Given the description of an element on the screen output the (x, y) to click on. 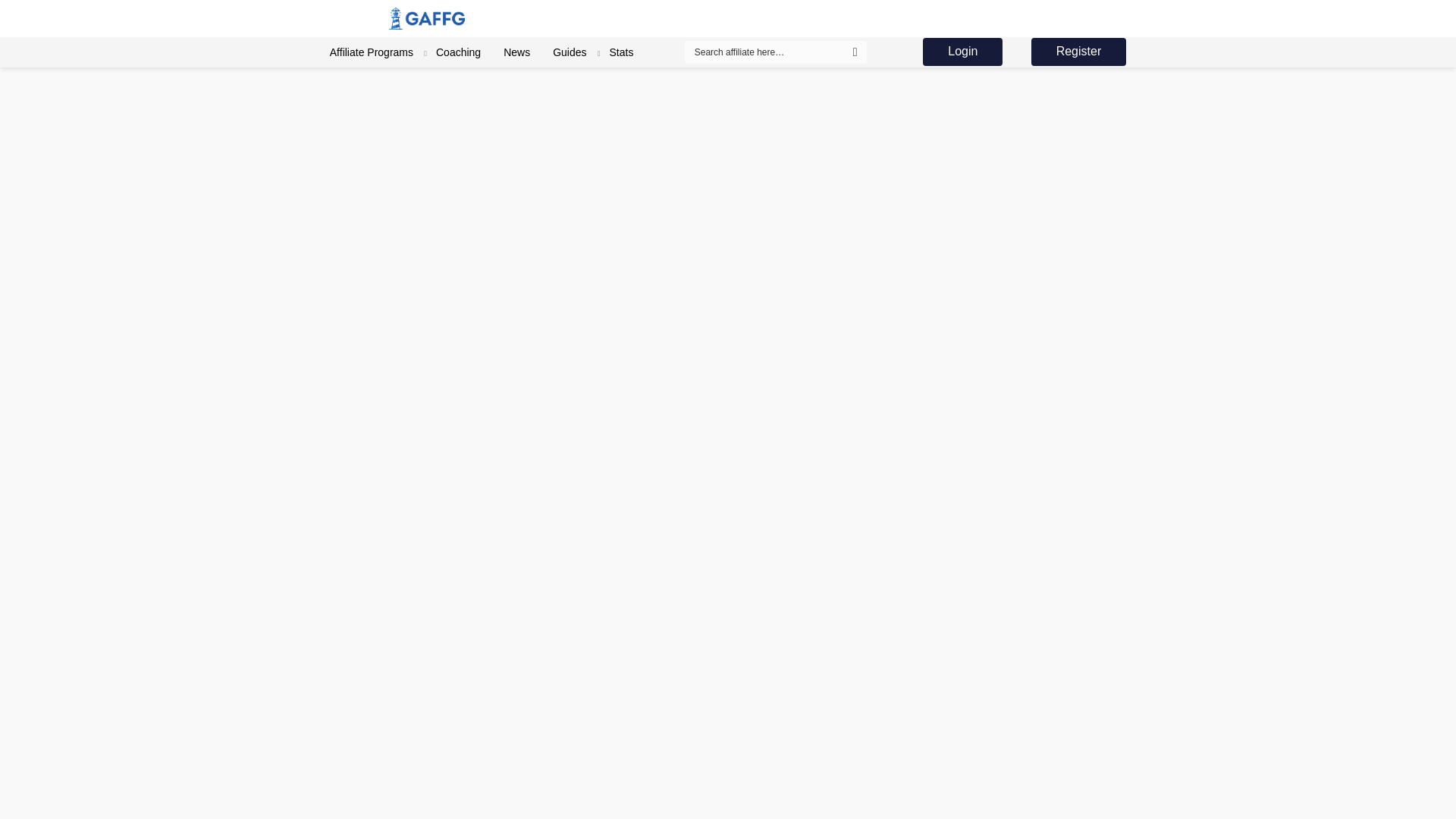
Login (963, 51)
Affiliate Programs (371, 51)
Guides (569, 51)
Coaching (457, 51)
Register (1078, 51)
